Given the description of an element on the screen output the (x, y) to click on. 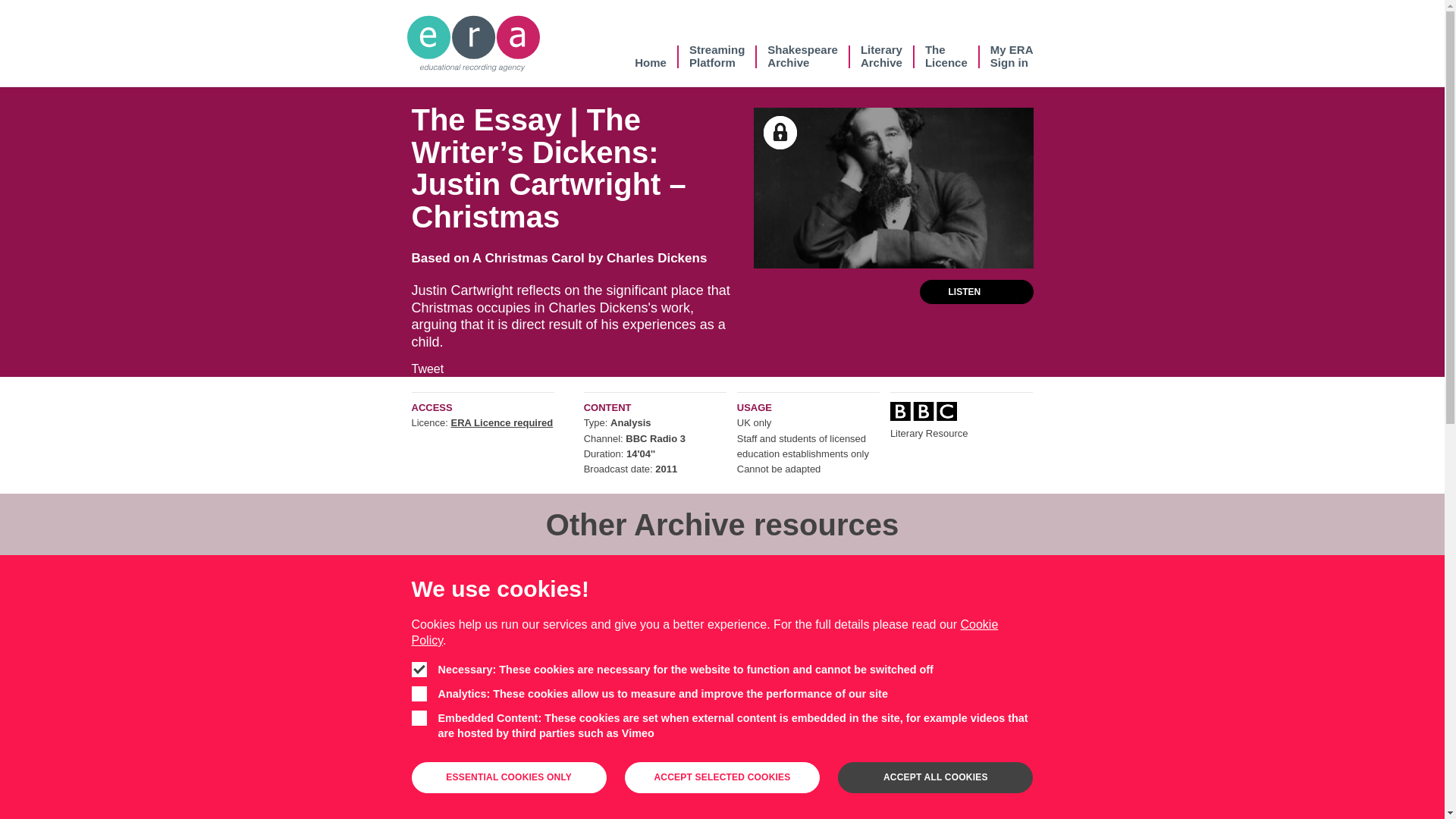
ERA Licence required (502, 422)
Home (881, 56)
Tweet (650, 56)
